Given the description of an element on the screen output the (x, y) to click on. 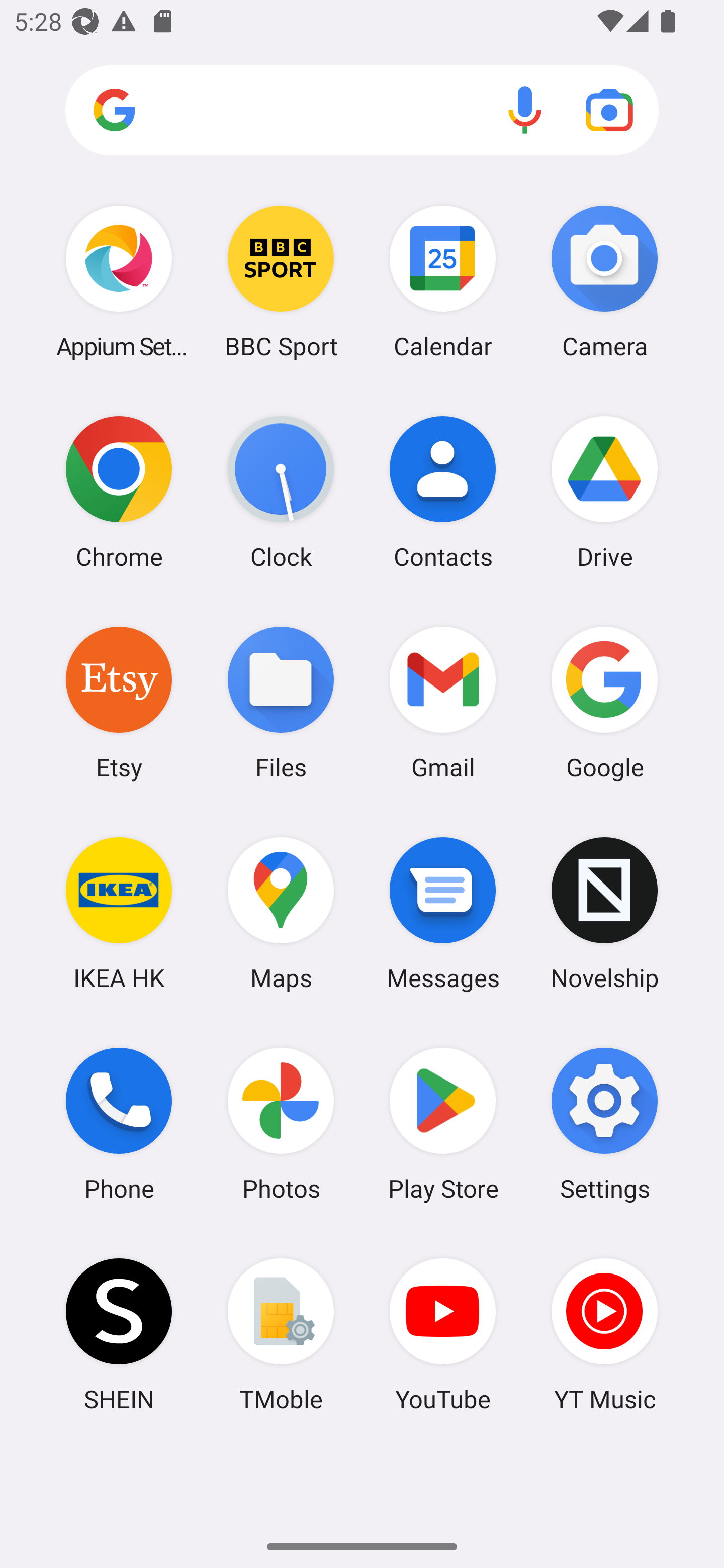
Search apps, web and more (361, 110)
Voice search (524, 109)
Google Lens (608, 109)
Appium Settings (118, 281)
BBC Sport (280, 281)
Calendar (443, 281)
Camera (604, 281)
Chrome (118, 492)
Clock (280, 492)
Contacts (443, 492)
Drive (604, 492)
Etsy (118, 702)
Files (280, 702)
Gmail (443, 702)
Google (604, 702)
IKEA HK (118, 913)
Maps (280, 913)
Messages (443, 913)
Novelship (604, 913)
Phone (118, 1124)
Photos (280, 1124)
Play Store (443, 1124)
Settings (604, 1124)
SHEIN (118, 1334)
TMoble (280, 1334)
YouTube (443, 1334)
YT Music (604, 1334)
